Given the description of an element on the screen output the (x, y) to click on. 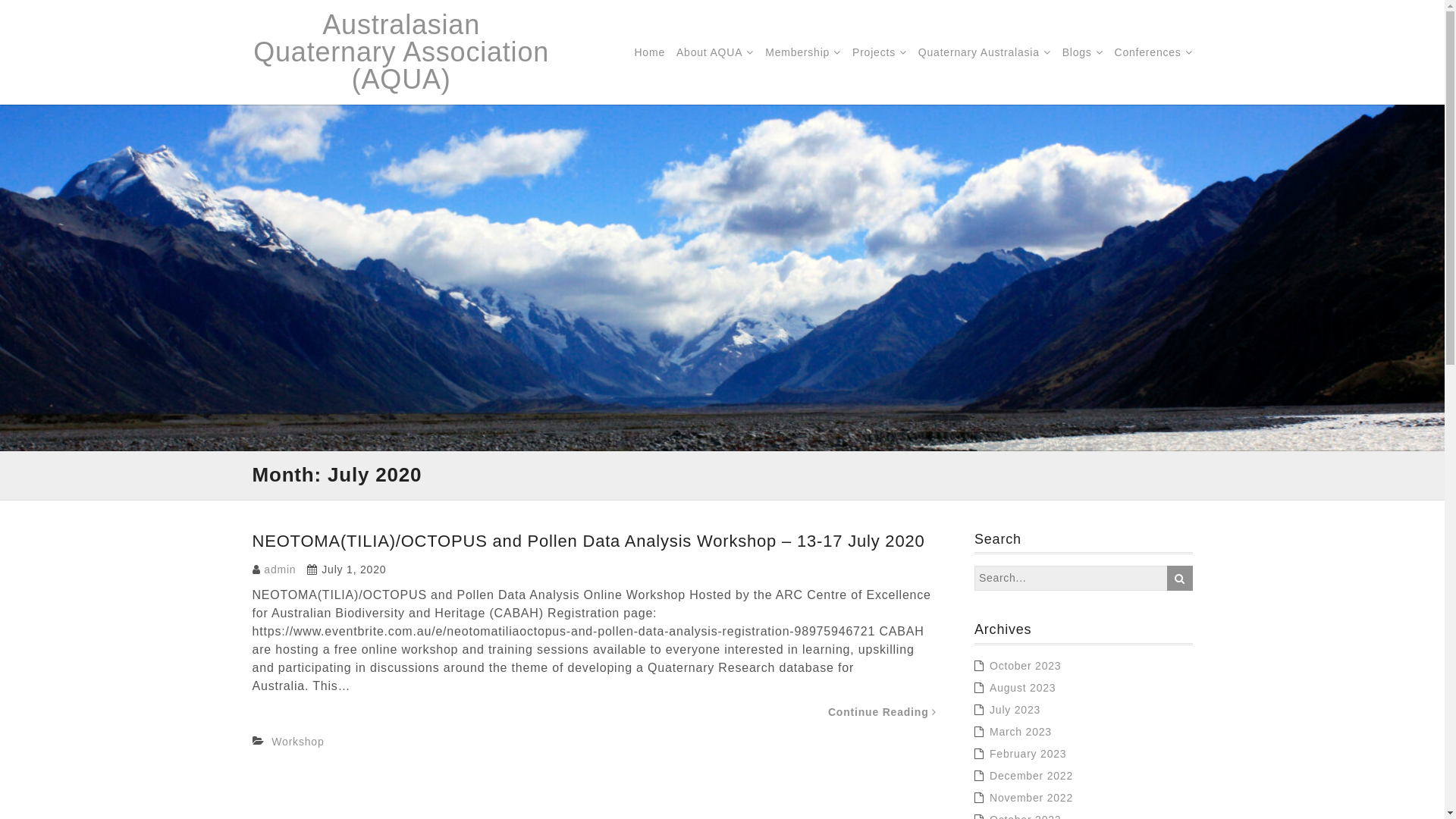
March 2023 Element type: text (1020, 731)
Home Element type: text (649, 52)
admin Element type: text (279, 569)
December 2022 Element type: text (1031, 775)
August 2023 Element type: text (1022, 687)
Australasian Quaternary Association (AQUA) Element type: text (400, 52)
February 2023 Element type: text (1027, 753)
Membership Element type: text (802, 52)
Projects Element type: text (879, 52)
Blogs Element type: text (1082, 52)
Skip to content Element type: text (0, 0)
November 2022 Element type: text (1031, 797)
October 2023 Element type: text (1024, 665)
Conferences Element type: text (1152, 52)
Continue Reading Element type: text (882, 711)
Workshop Element type: text (297, 741)
July 2023 Element type: text (1014, 709)
Quaternary Australasia Element type: text (984, 52)
About AQUA Element type: text (714, 52)
